Given the description of an element on the screen output the (x, y) to click on. 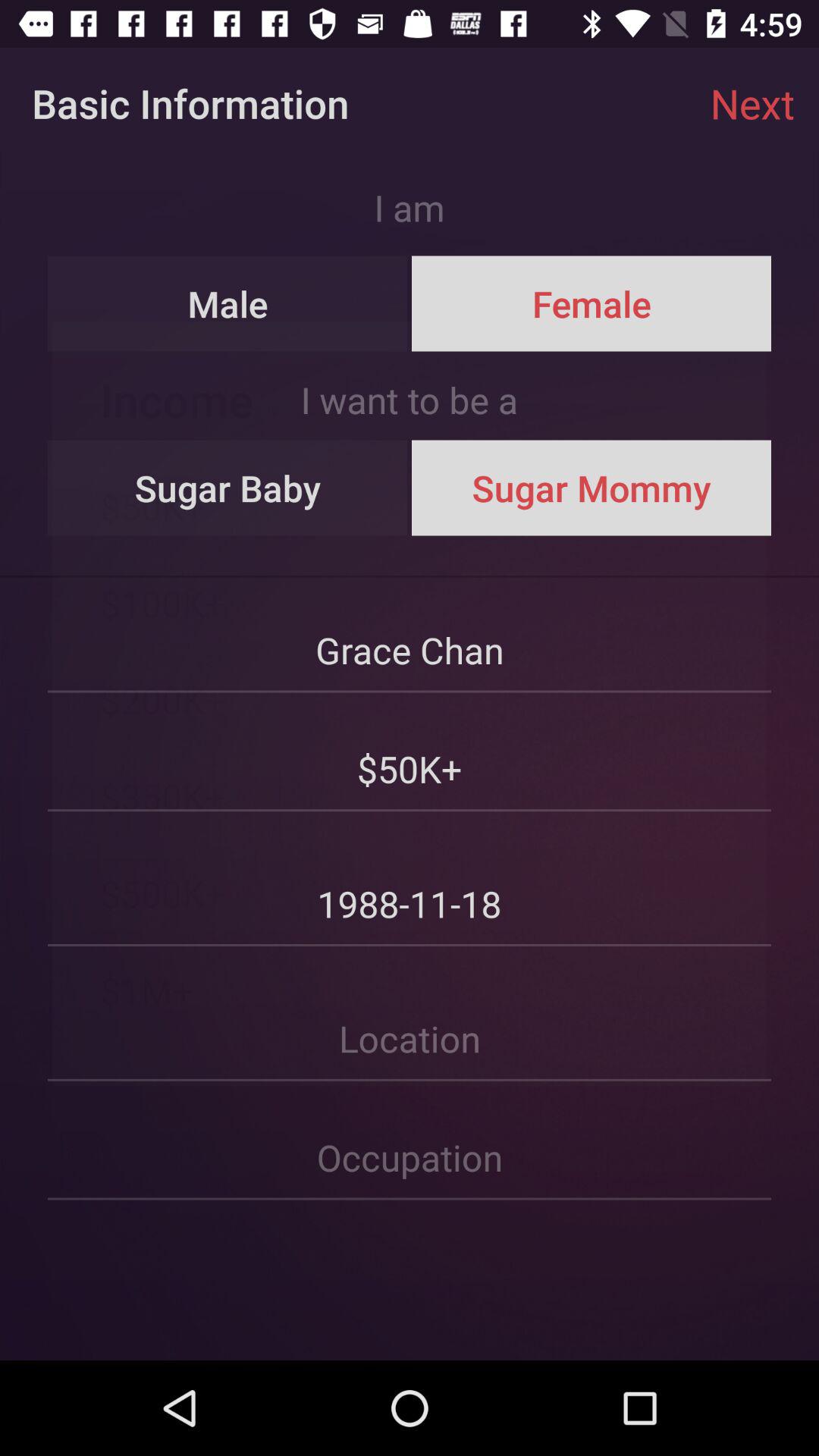
choose the item to the left of sugar mommy item (227, 487)
